Given the description of an element on the screen output the (x, y) to click on. 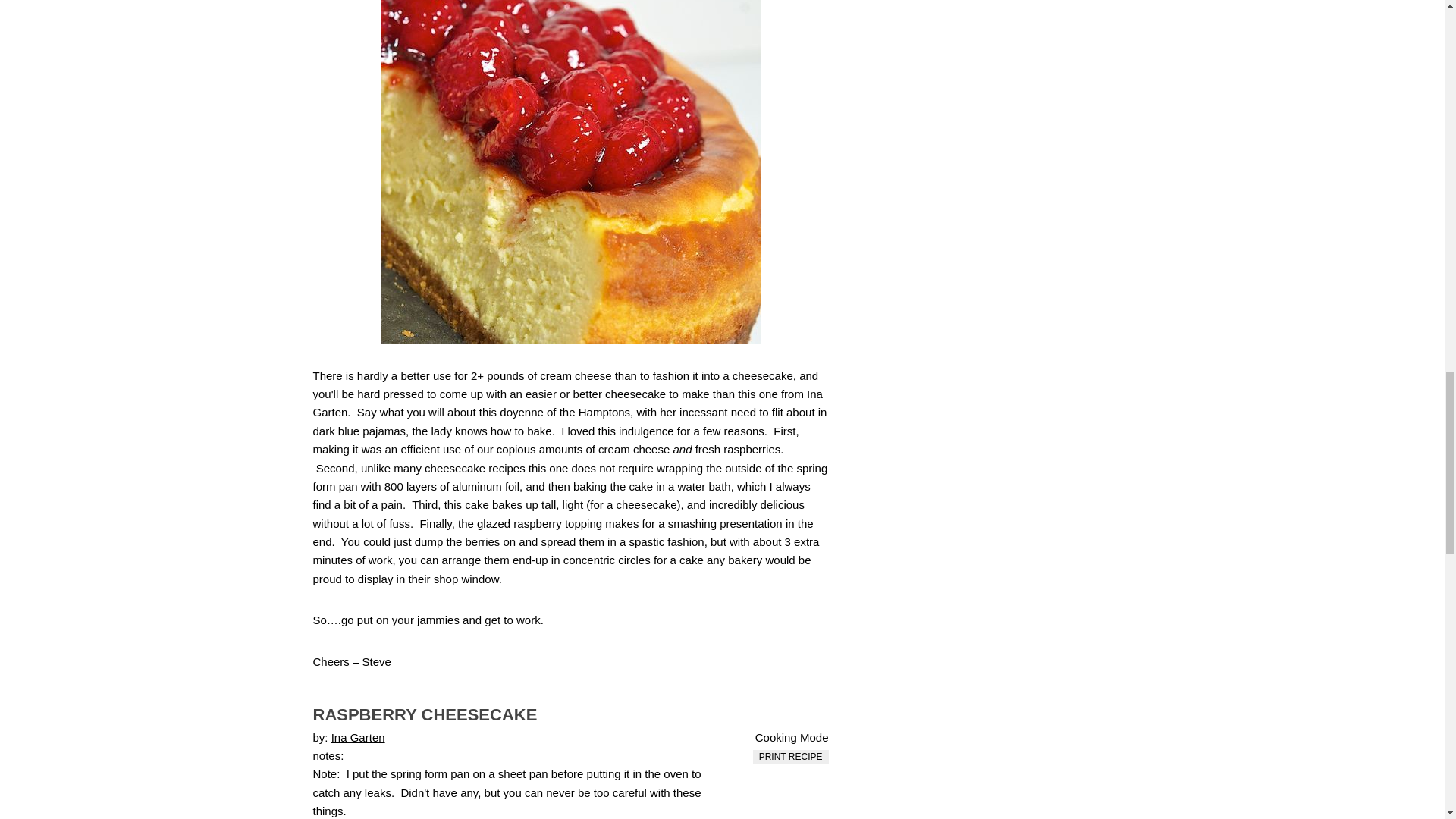
Cooking Mode (782, 737)
PRINT RECIPE (790, 756)
Cheesecake slice- Blog 408 (570, 171)
Ina Garten (358, 737)
